Given the description of an element on the screen output the (x, y) to click on. 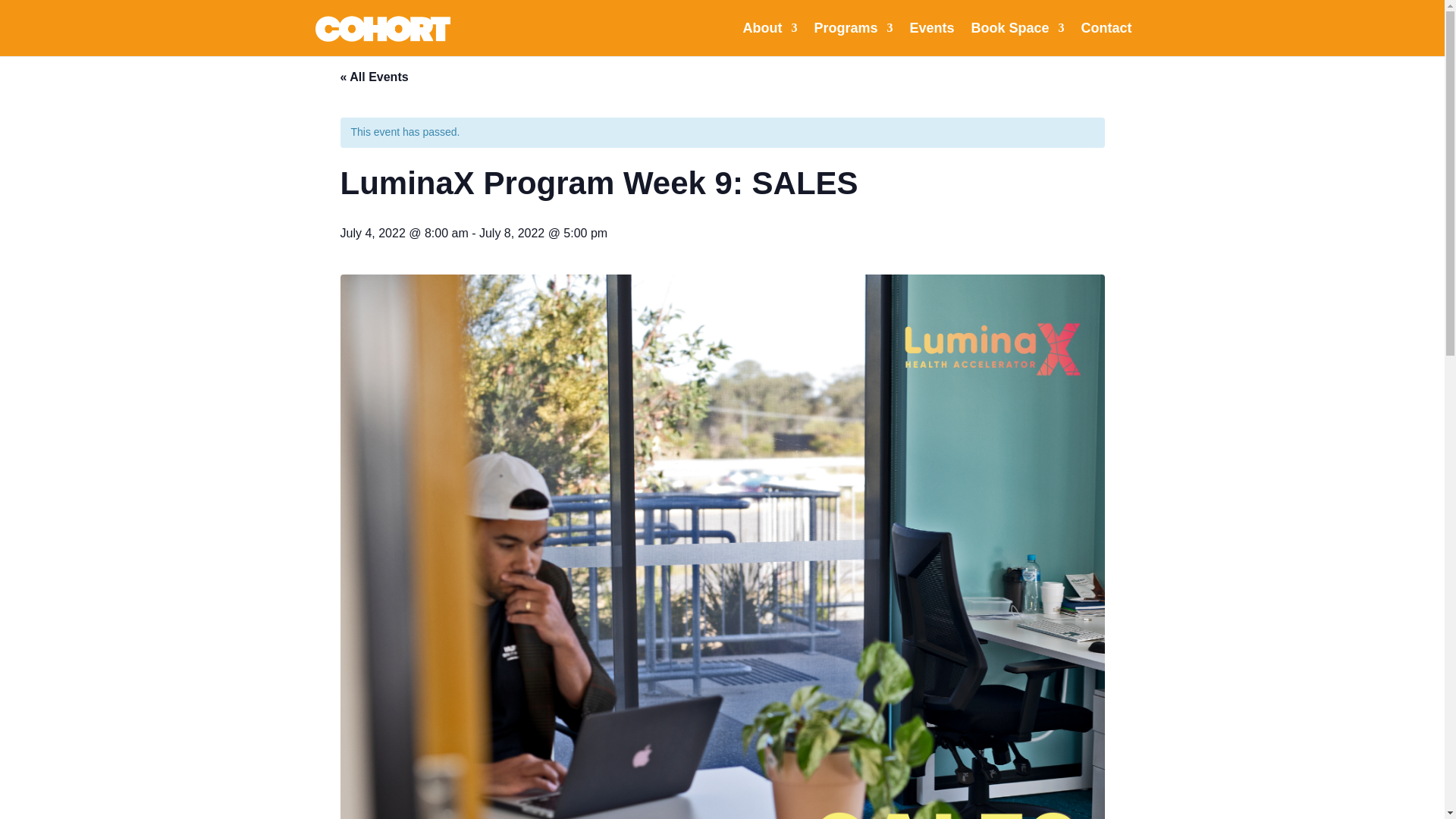
Events (930, 39)
Contact (1106, 39)
About (769, 39)
Programs (852, 39)
Book Space (1017, 39)
